Given the description of an element on the screen output the (x, y) to click on. 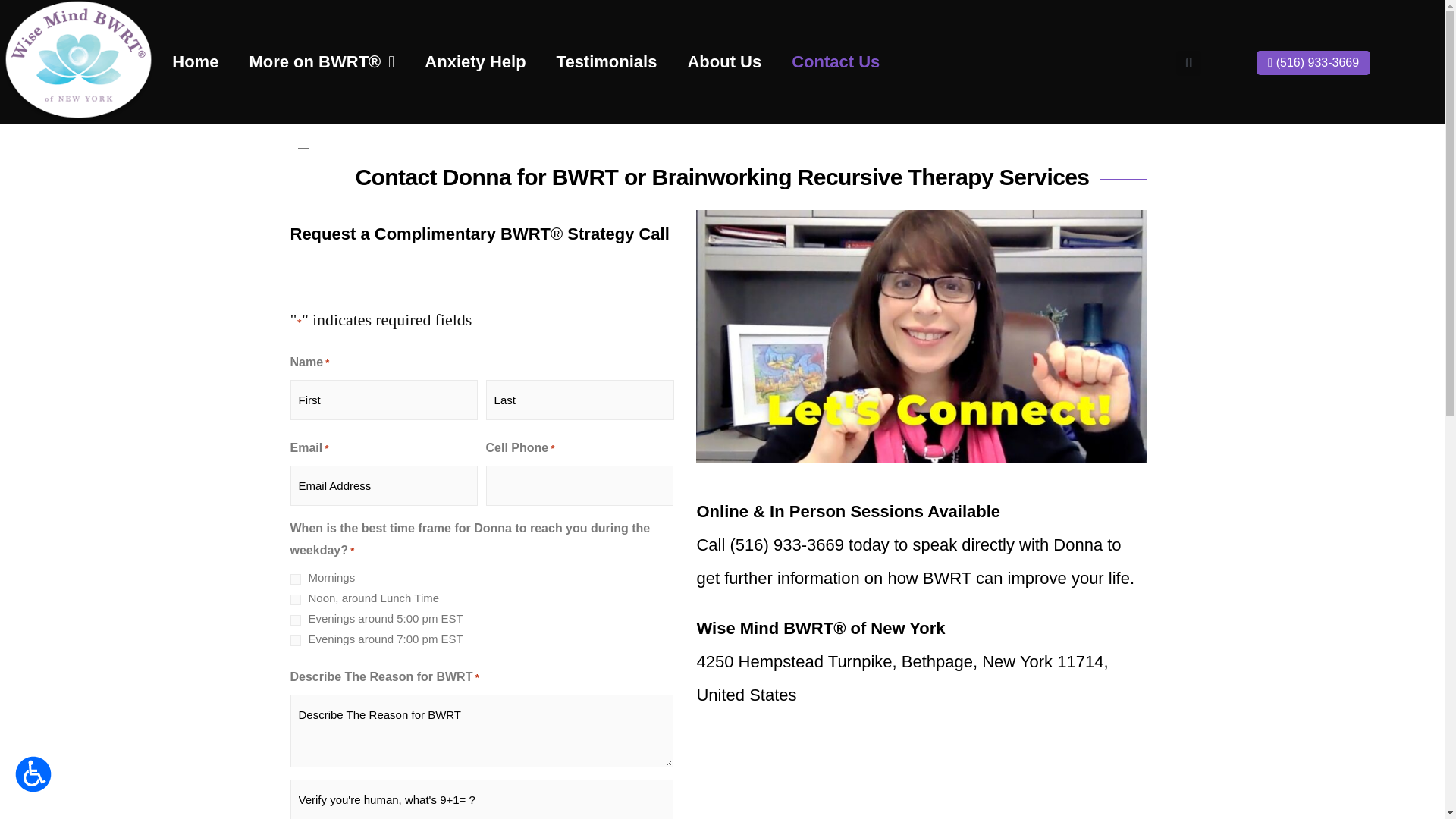
Testimonials (606, 62)
Open accessibility tools (32, 773)
Anxiety Help (474, 62)
Contact Us (835, 62)
Home (194, 62)
About Us (723, 62)
